Given the description of an element on the screen output the (x, y) to click on. 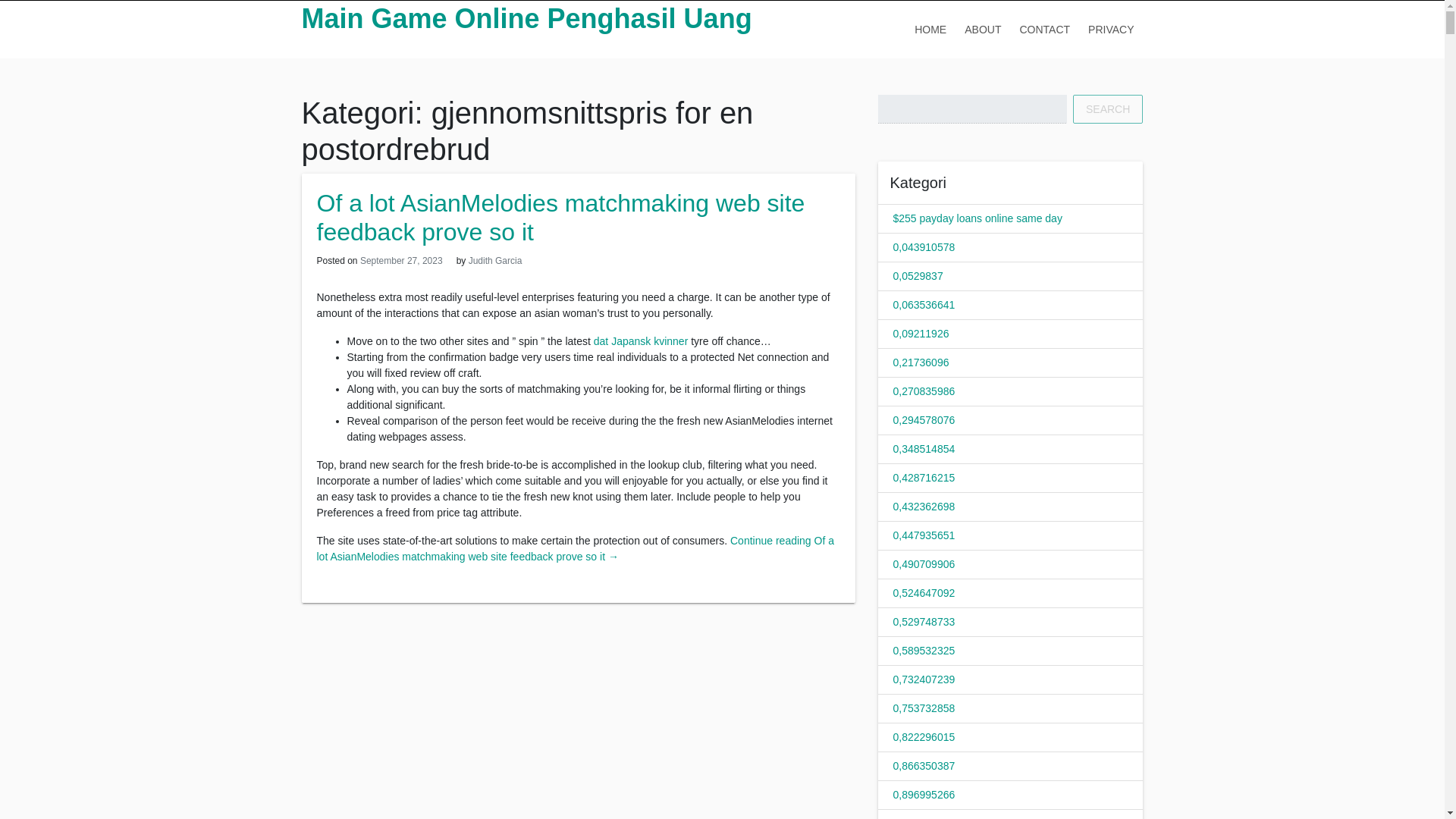
Main Game Online Penghasil Uang (526, 18)
0,043910578 (924, 246)
dat Japansk kvinner (641, 340)
0,09211926 (921, 333)
0,490709906 (924, 563)
0,589532325 (924, 650)
CONTACT (1044, 29)
0,432362698 (924, 506)
ABOUT (982, 29)
